Given the description of an element on the screen output the (x, y) to click on. 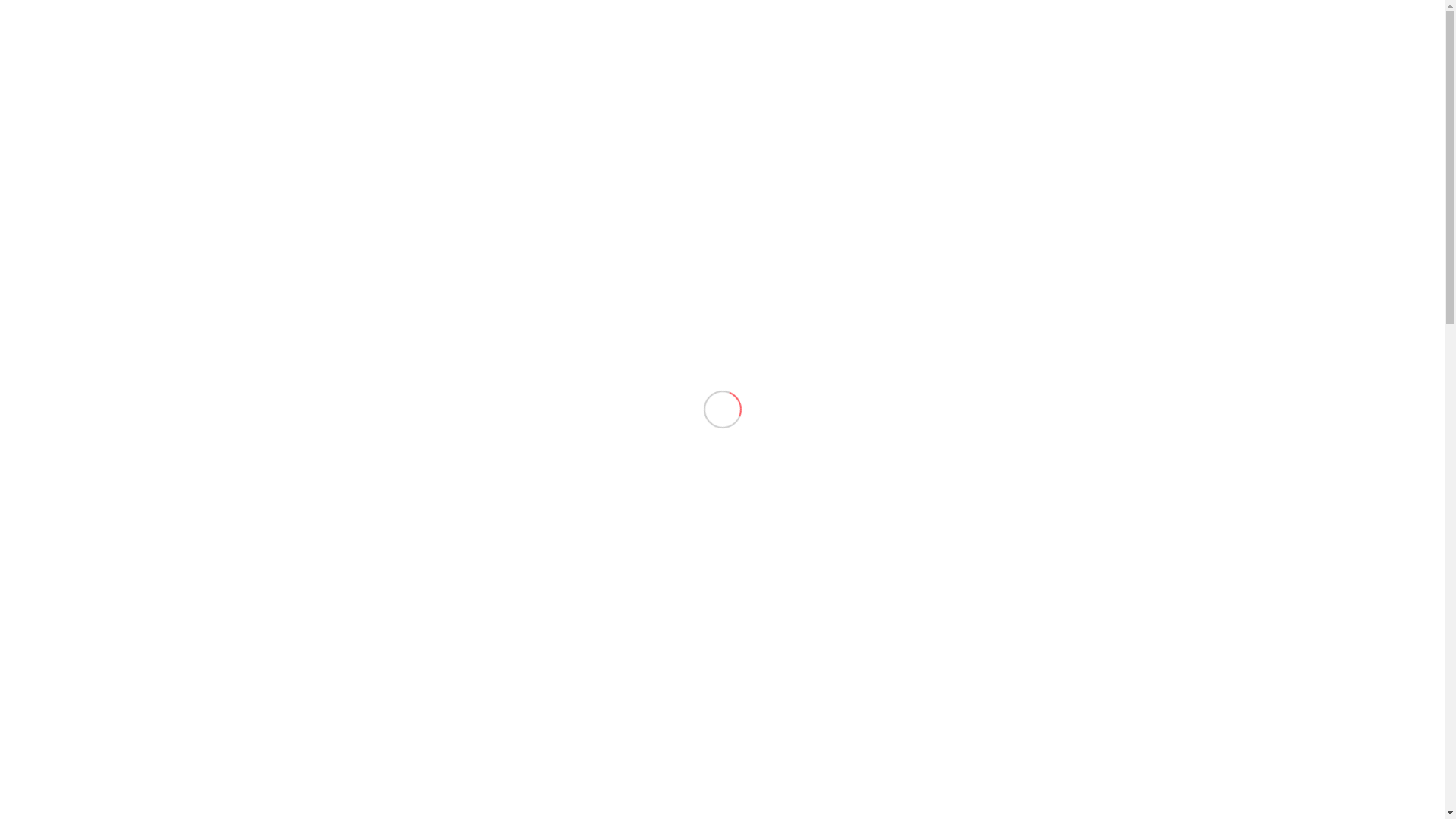
Home Element type: text (1033, 38)
About Us Element type: text (1090, 38)
Language Element type: text (1267, 38)
Tours Element type: text (1147, 38)
I agree Element type: text (1116, 21)
Live Virtual Tours Element type: text (1357, 38)
Contact Element type: text (1201, 38)
Learn more about cookies Element type: text (1020, 20)
